Given the description of an element on the screen output the (x, y) to click on. 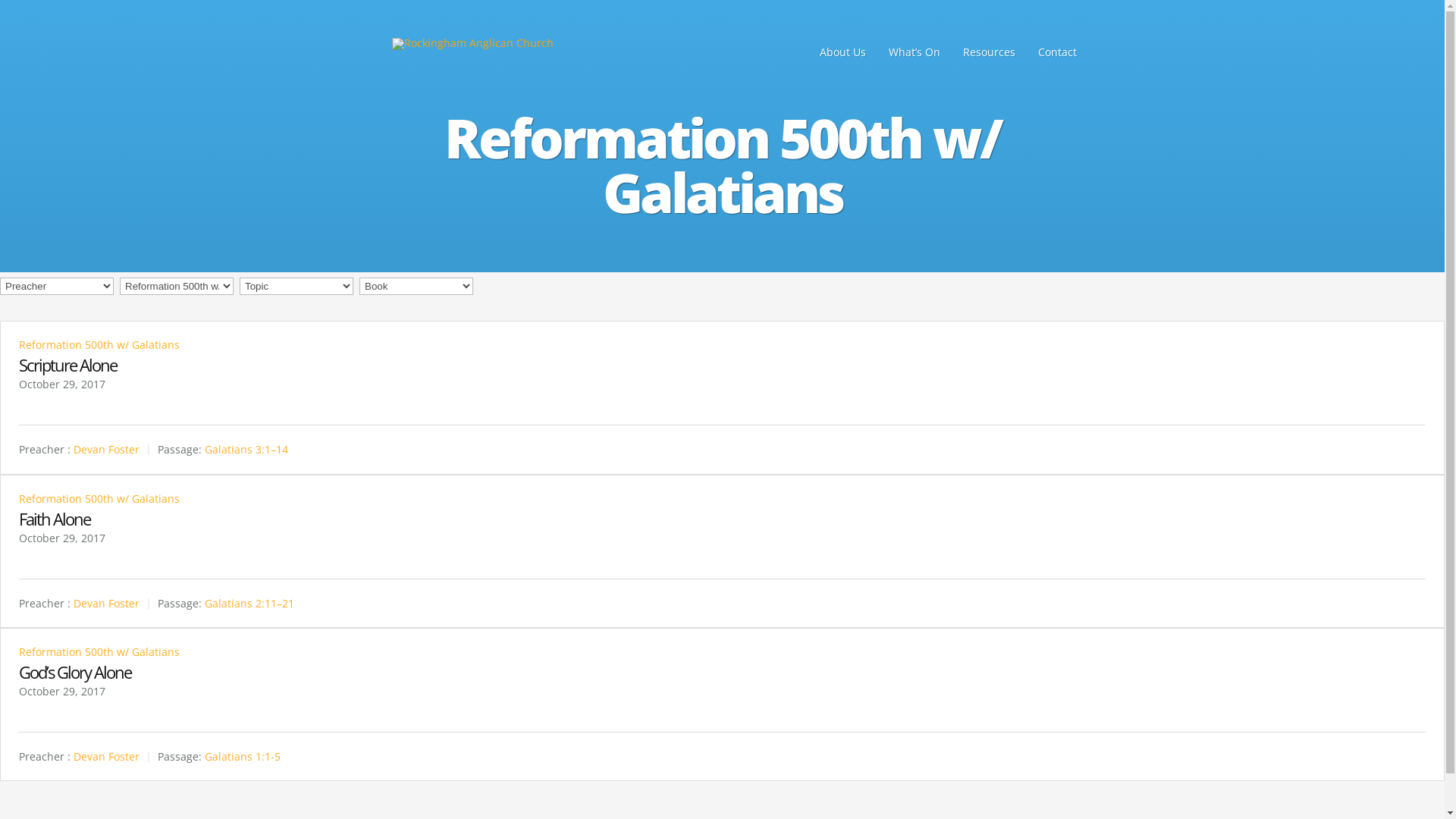
Devan Foster Element type: text (106, 756)
Devan Foster Element type: text (106, 603)
Scripture Alone Element type: text (67, 364)
Faith Alone Element type: text (54, 518)
About Us Element type: text (842, 52)
Contact Element type: text (1057, 52)
Reformation 500th w/ Galatians Element type: text (98, 498)
Reformation 500th w/ Galatians Element type: text (98, 344)
Devan Foster Element type: text (106, 449)
Galatians 1:1-5 Element type: text (242, 756)
Reformation 500th w/ Galatians Element type: text (98, 651)
Resources Element type: text (988, 52)
